Given the description of an element on the screen output the (x, y) to click on. 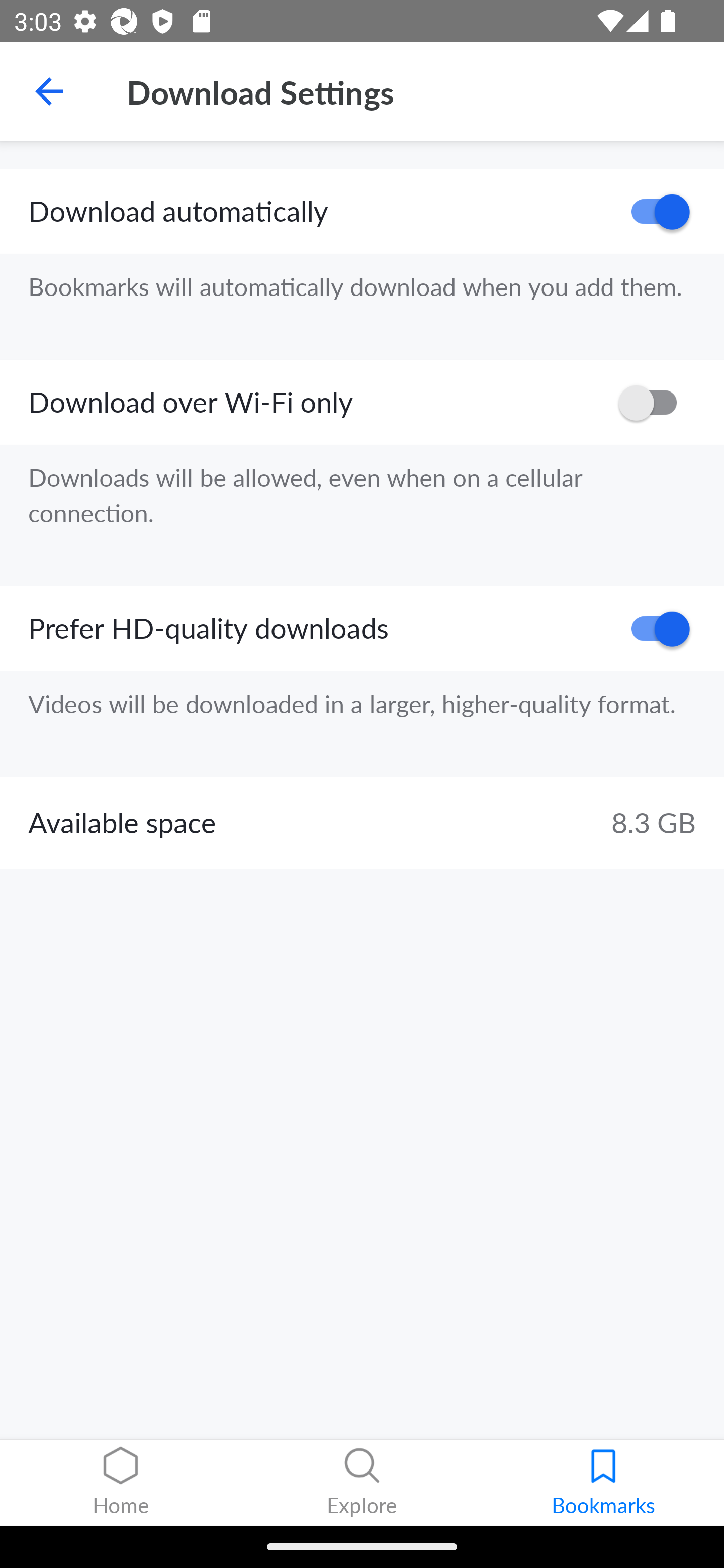
Navigate up (49, 91)
ON (653, 211)
OFF (653, 402)
ON (653, 628)
Home (120, 1482)
Explore (361, 1482)
Bookmarks (603, 1482)
